Given the description of an element on the screen output the (x, y) to click on. 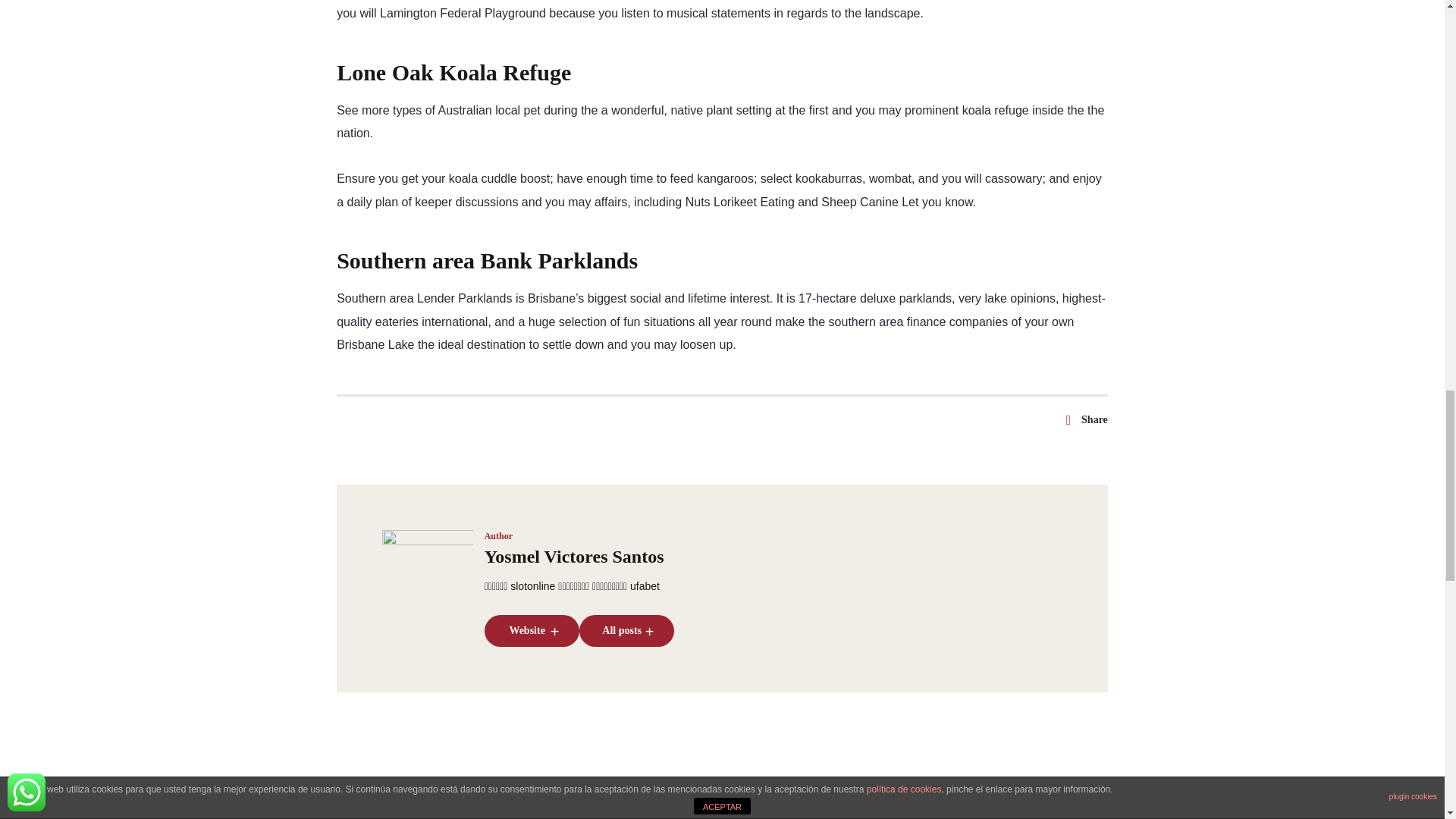
slotonline (532, 585)
ufabet (644, 585)
All posts (626, 631)
Website (531, 631)
